Given the description of an element on the screen output the (x, y) to click on. 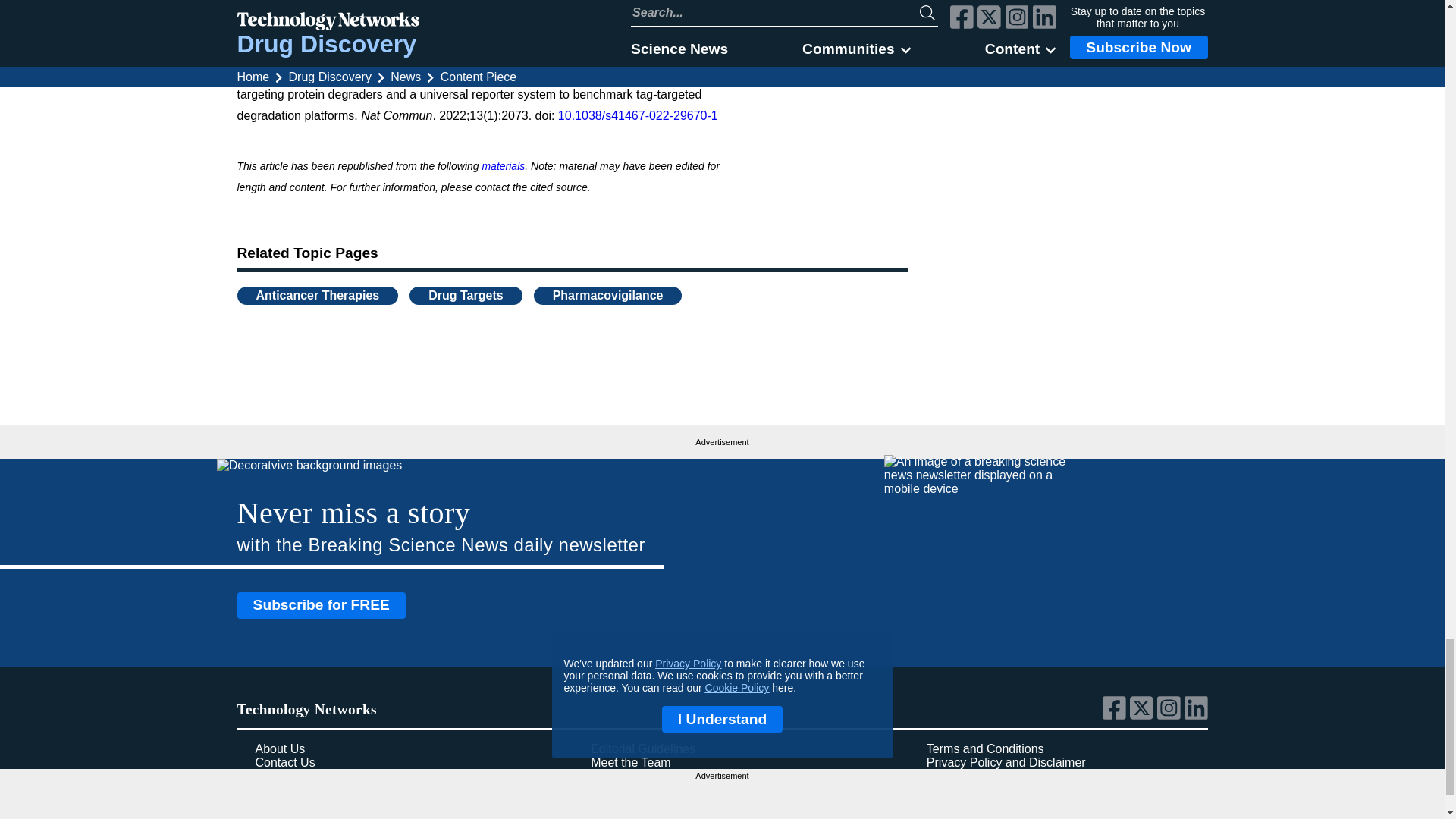
Link to Technology Networks' linkedin page (1196, 715)
Link to Technology Networks' facebook page (1115, 715)
Link to Technology Networks' instagram page (1171, 715)
Link to Technology Networks' twitter page (1143, 715)
